Given the description of an element on the screen output the (x, y) to click on. 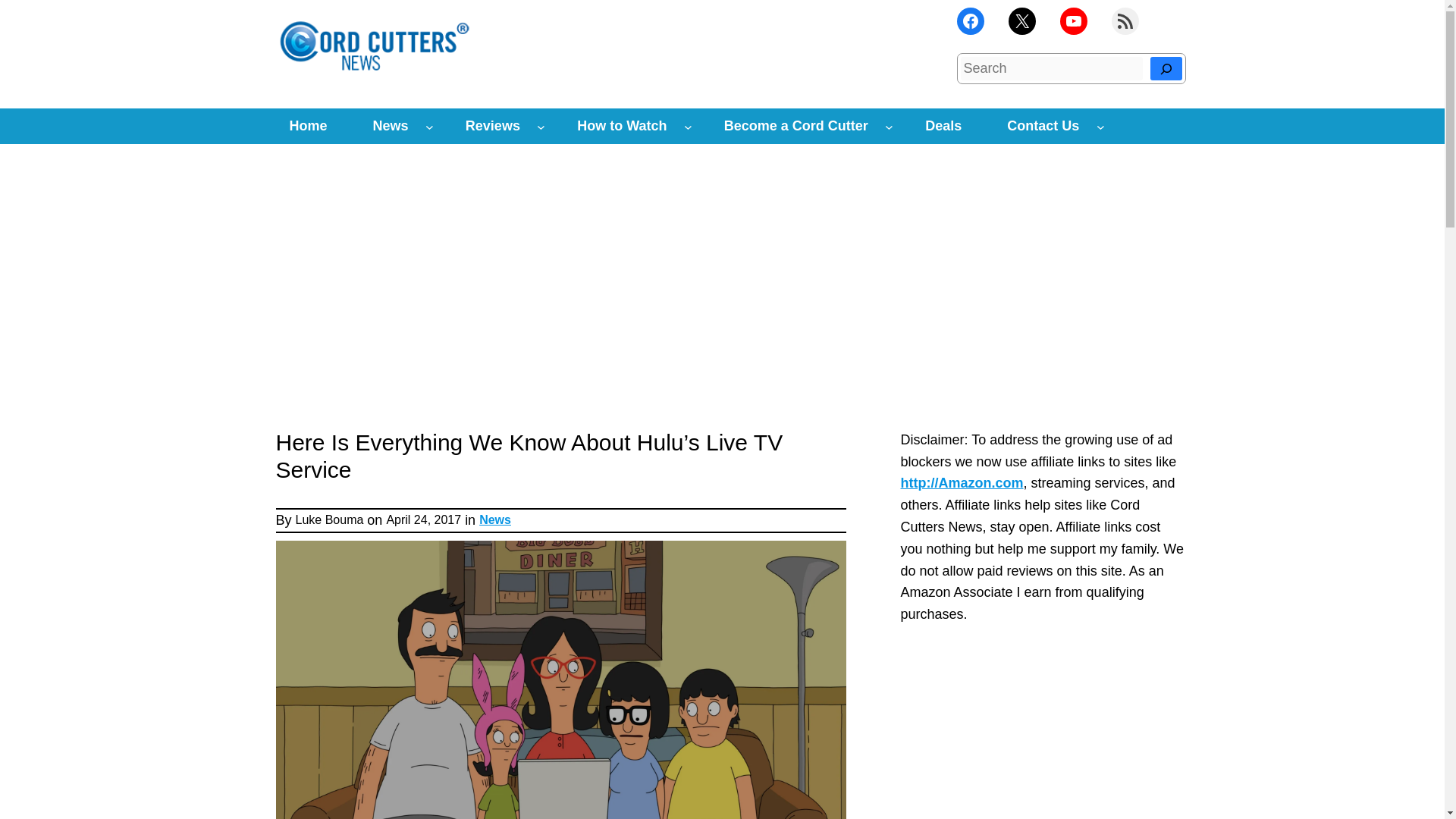
X (1022, 21)
News (390, 126)
YouTube (1073, 21)
Reviews (492, 126)
RSS Feed (1125, 21)
Home (308, 126)
Facebook (970, 21)
